Given the description of an element on the screen output the (x, y) to click on. 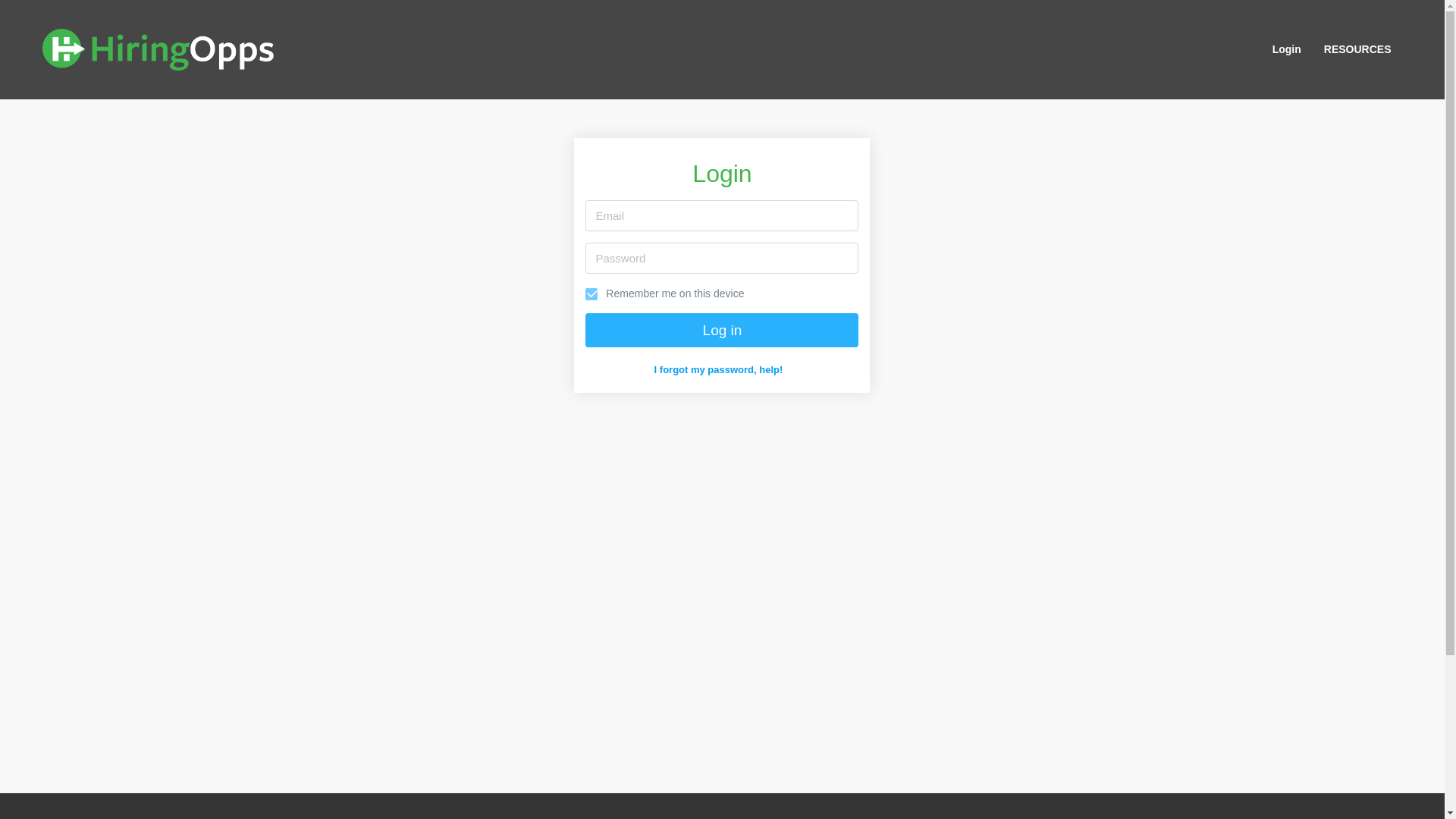
Log in (722, 329)
RESOURCES (1358, 49)
I forgot my password, help! (718, 369)
